Given the description of an element on the screen output the (x, y) to click on. 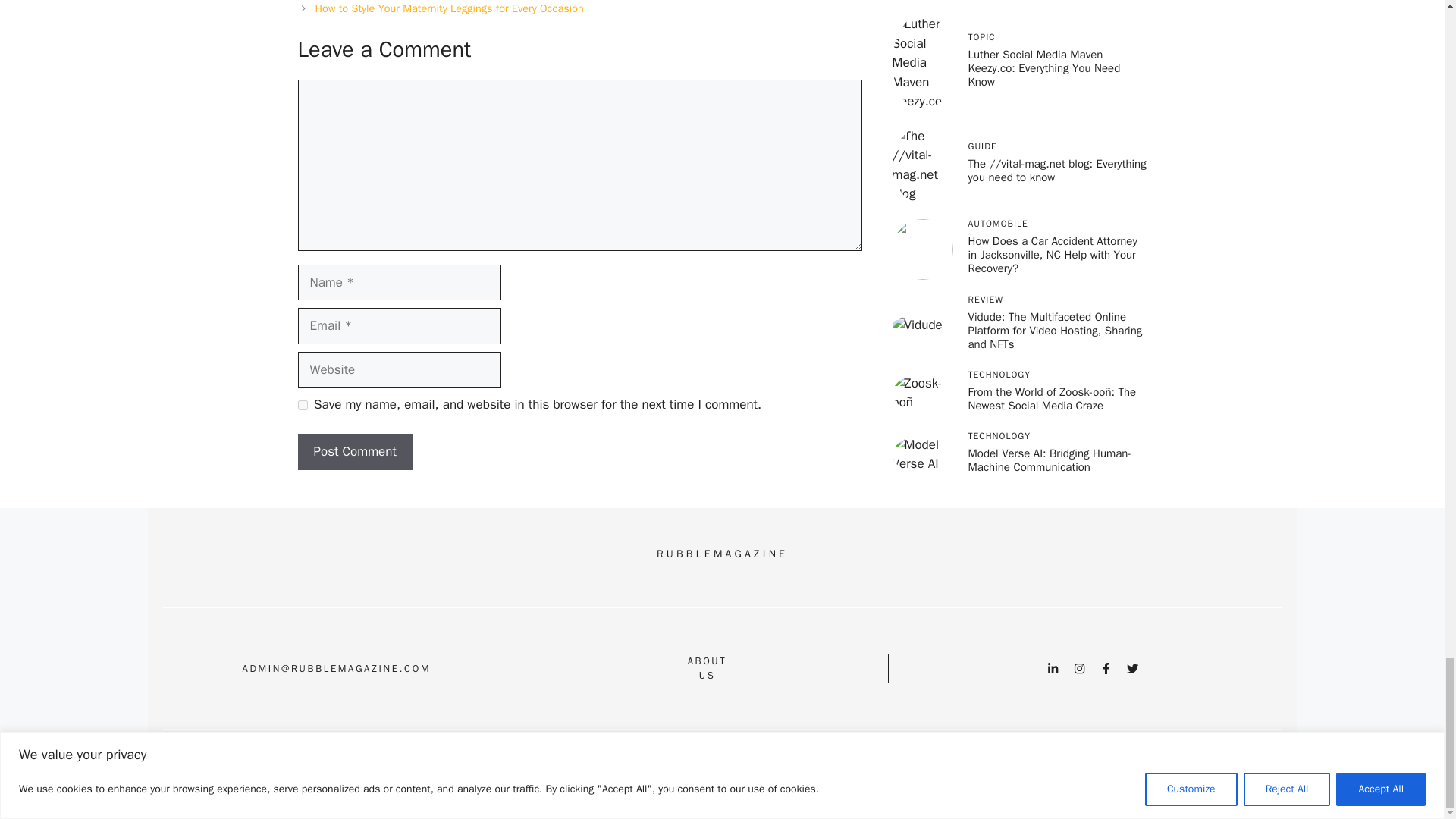
Post Comment (354, 452)
Post Comment (354, 452)
How to Style Your Maternity Leggings for Every Occasion (449, 8)
yes (302, 405)
